Given the description of an element on the screen output the (x, y) to click on. 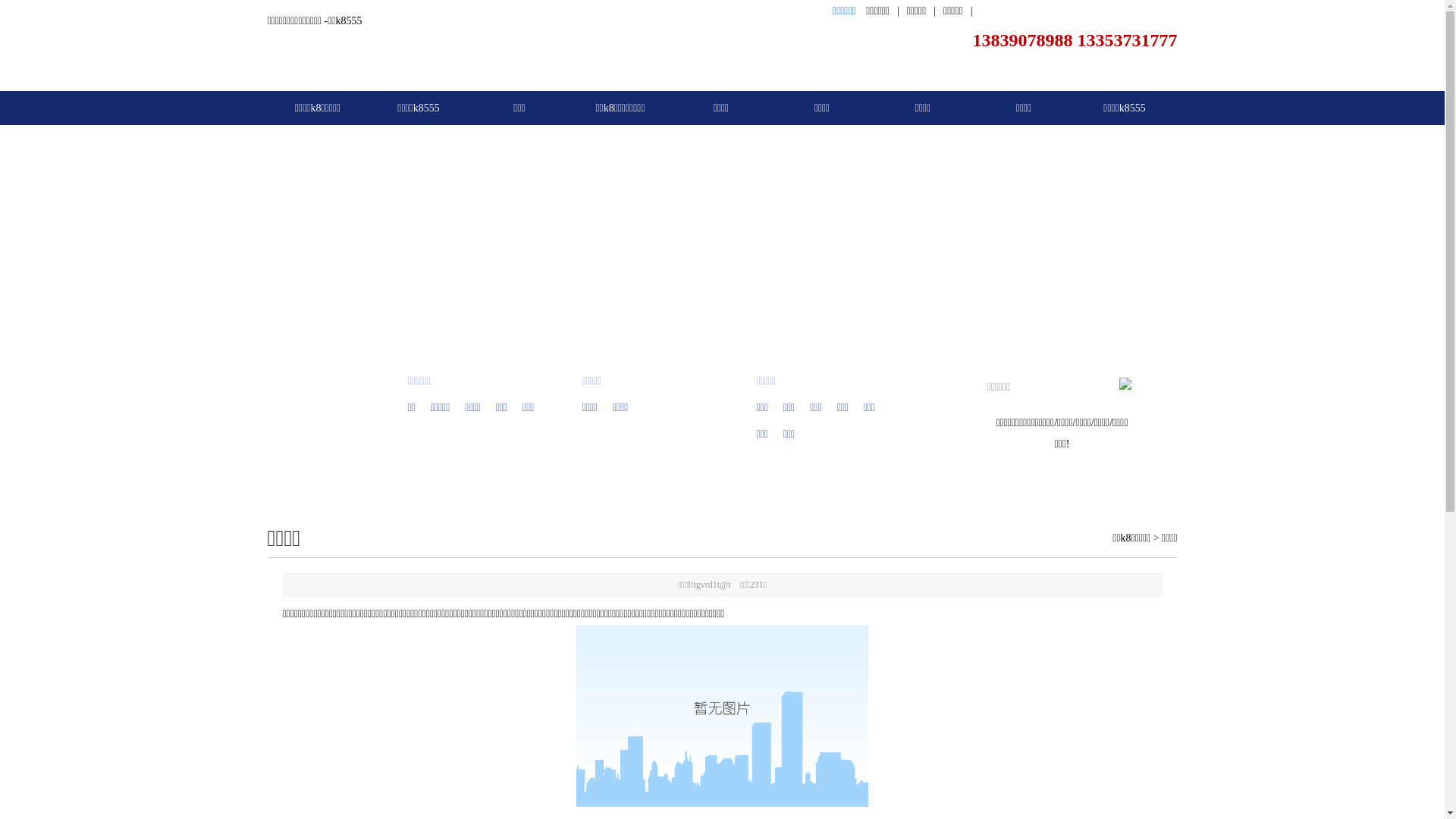
   Element type: text (1125, 383)
